Given the description of an element on the screen output the (x, y) to click on. 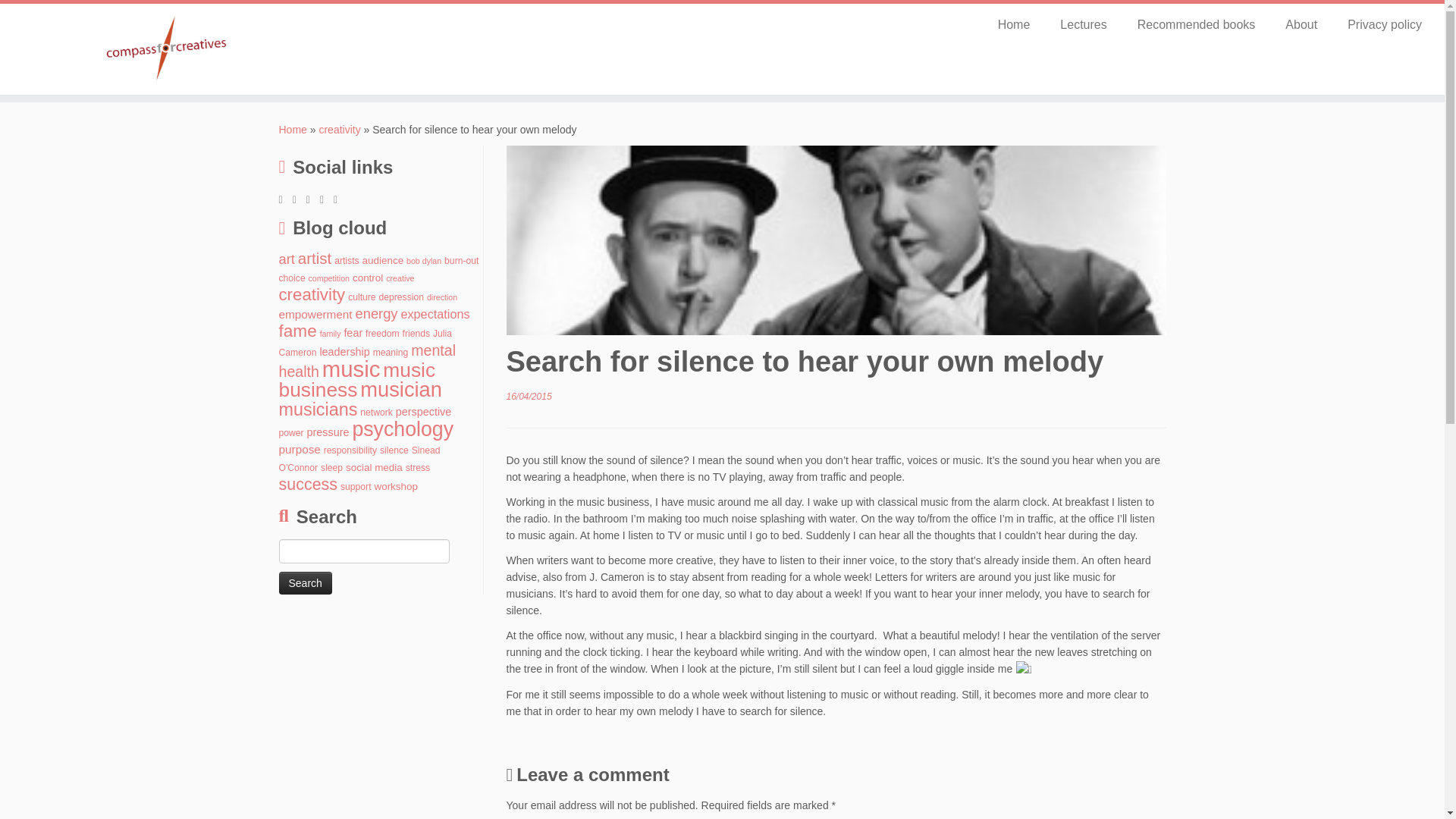
depression (400, 296)
About (1300, 24)
expectations (434, 314)
bob dylan (423, 260)
choice (292, 277)
leadership (343, 351)
Recommended books (1196, 24)
fear (352, 332)
art (287, 258)
17:29 (528, 396)
Privacy policy (1377, 24)
creativity (312, 294)
energy (376, 313)
Search (305, 582)
friends (416, 333)
